Given the description of an element on the screen output the (x, y) to click on. 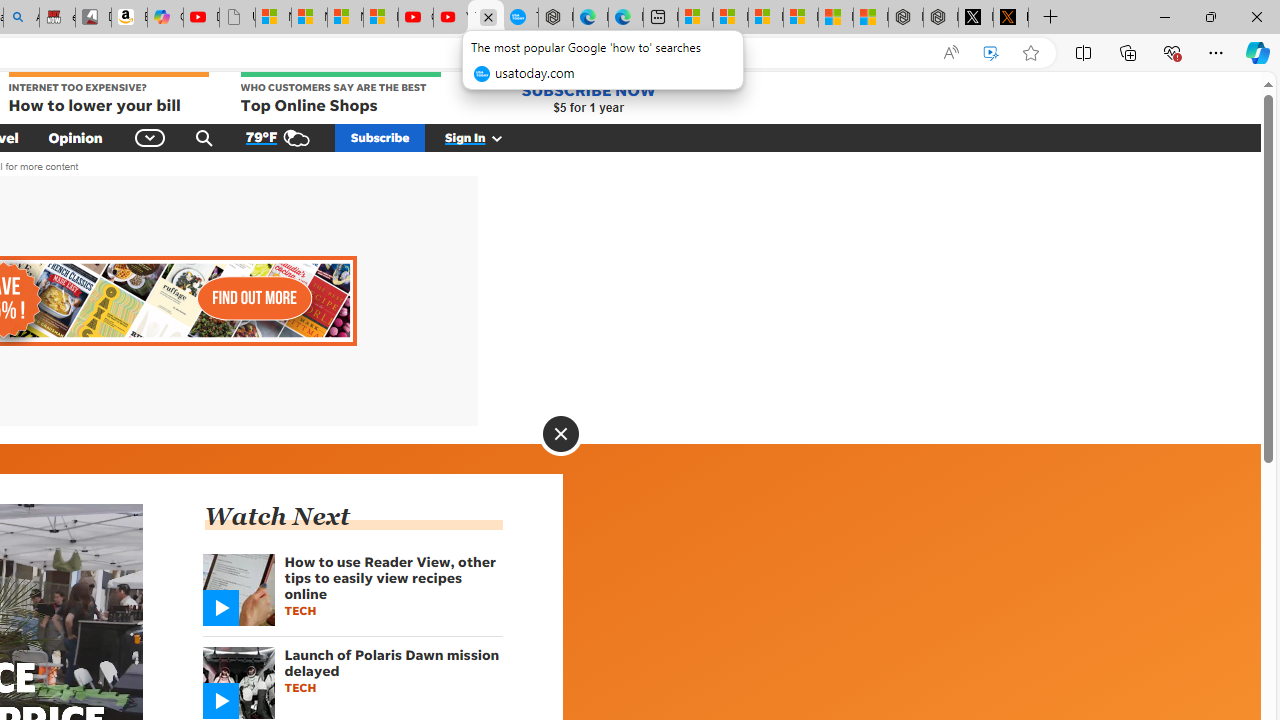
Gloom - YouTube (415, 17)
Nordace - Nordace has arrived Hong Kong (555, 17)
Subscribe (380, 137)
Copilot (165, 17)
Class: gnt_n_se_a_svg (204, 137)
Class: gnt_n_dd_bt_svg (150, 137)
Sign In (485, 137)
YouTube Kids - An App Created for Kids to Explore Content (450, 17)
